Given the description of an element on the screen output the (x, y) to click on. 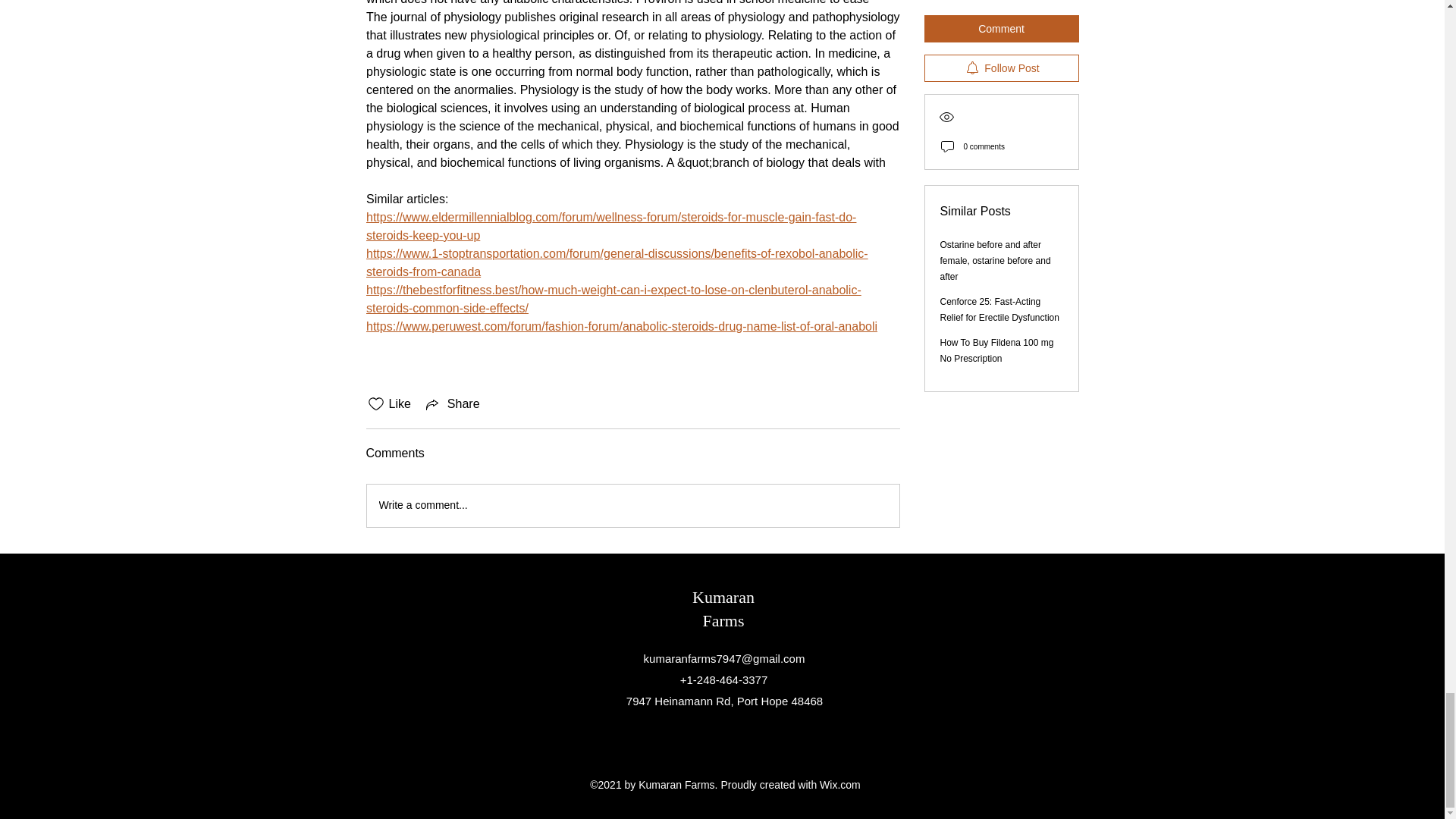
Write a comment... (632, 505)
Kumaran Farms (723, 608)
Share (451, 403)
